Given the description of an element on the screen output the (x, y) to click on. 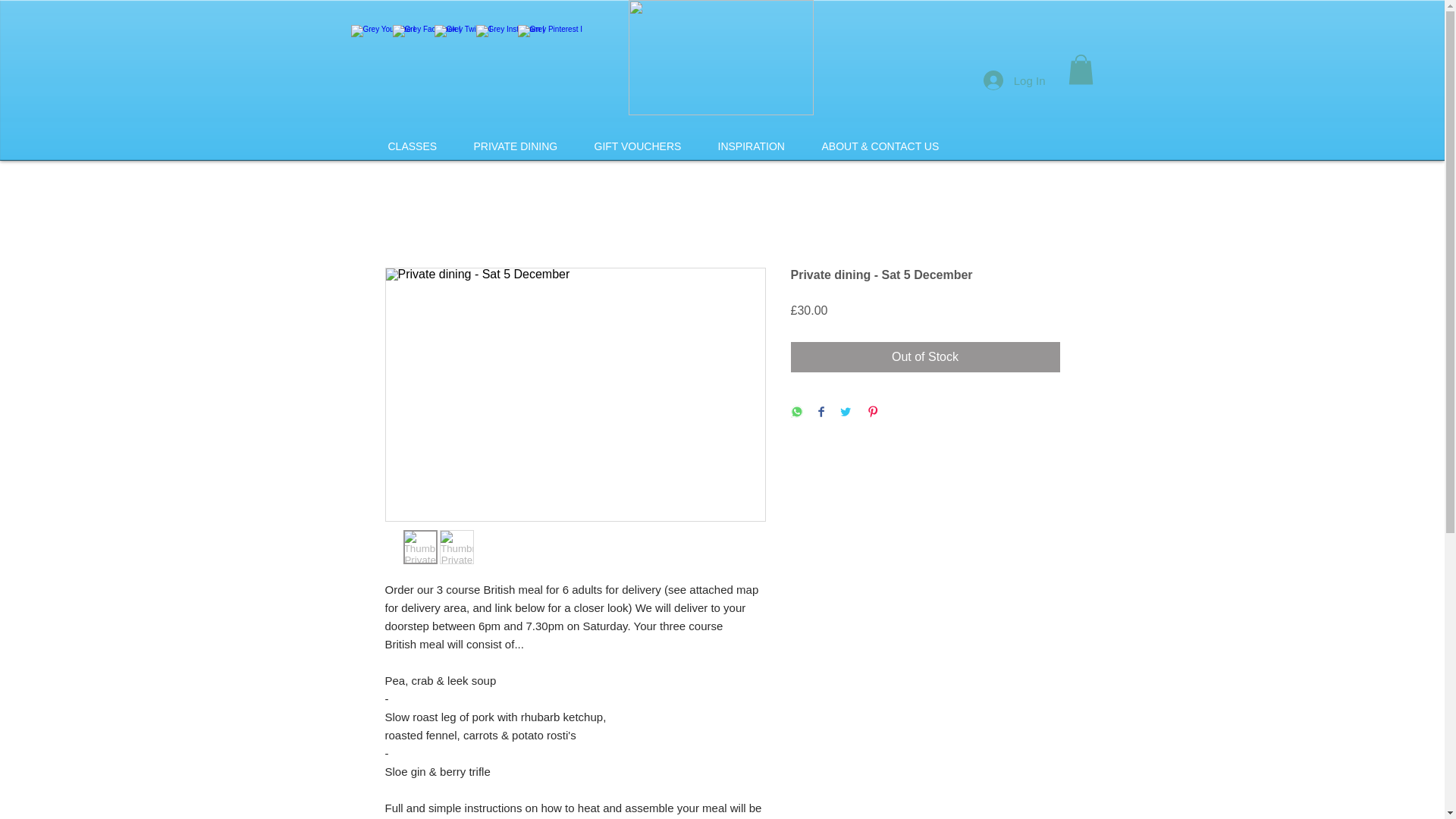
CLASSES (411, 146)
Out of Stock (924, 357)
PRIVATE DINING (514, 146)
GIFT VOUCHERS (636, 146)
INSPIRATION (750, 146)
logo-white.png (719, 57)
Log In (1014, 80)
